Given the description of an element on the screen output the (x, y) to click on. 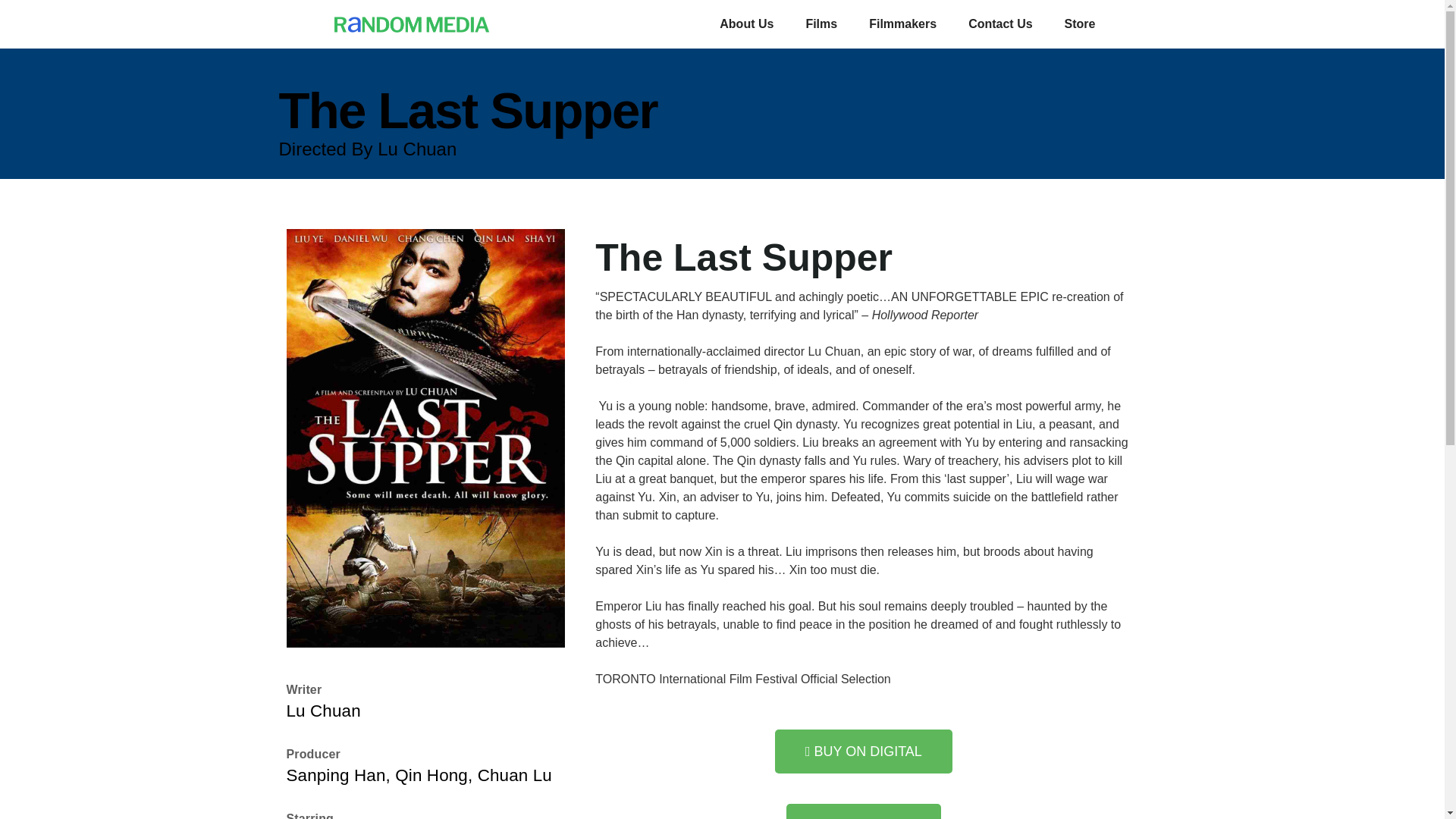
Starring (309, 815)
Producer (313, 753)
Films (820, 24)
Writer (303, 689)
About Us (746, 24)
Store (1079, 24)
BUY ON DIGITAL (863, 751)
Filmmakers (902, 24)
Contact Us (999, 24)
